Given the description of an element on the screen output the (x, y) to click on. 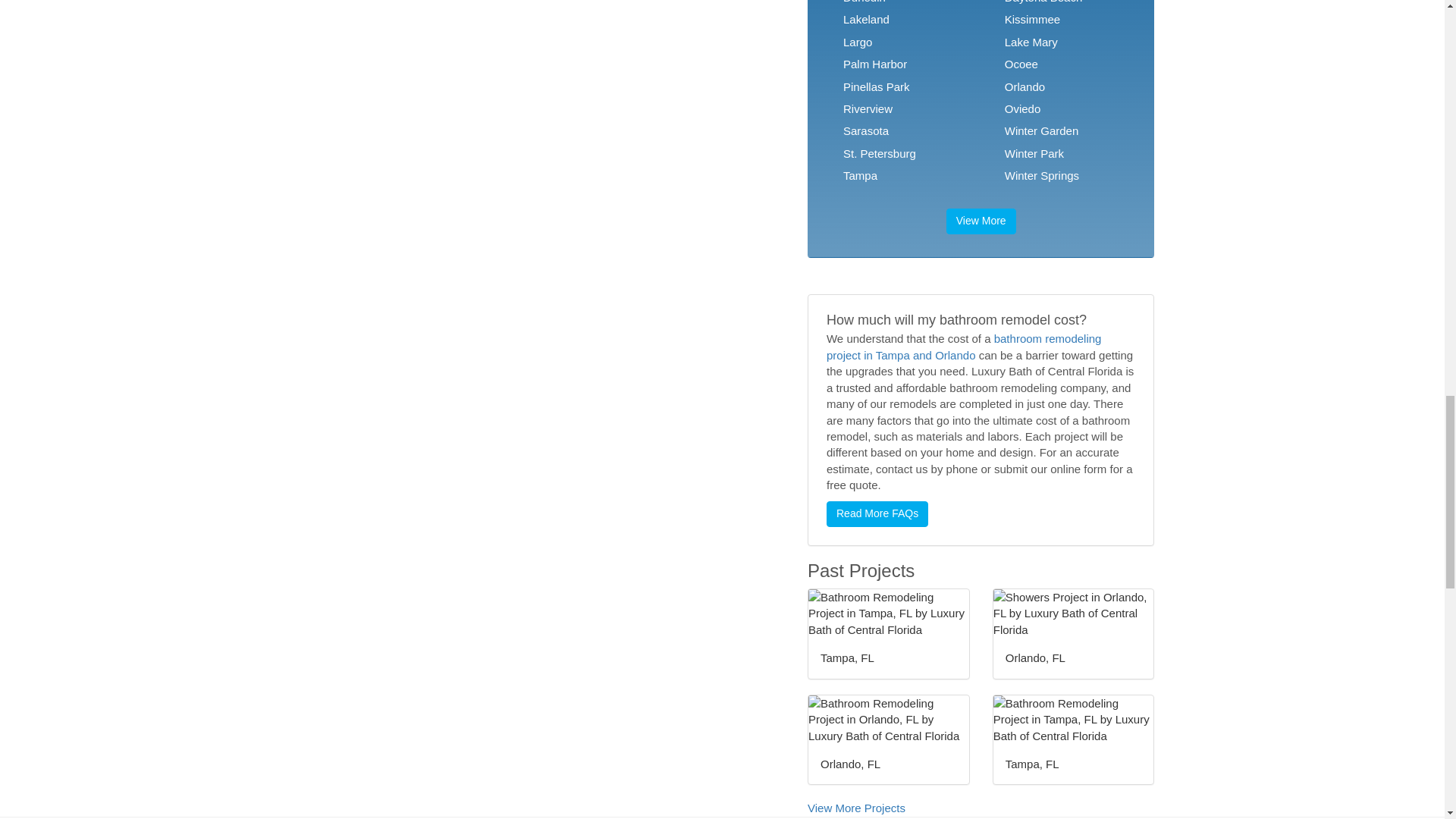
Tampa, FL Bathroom Remodeling Project (888, 613)
Orlando, FL Showers Project (1073, 613)
Tampa, FL Bathroom Remodeling Project (1073, 719)
Orlando, FL Bathroom Remodeling Project (888, 719)
